Given the description of an element on the screen output the (x, y) to click on. 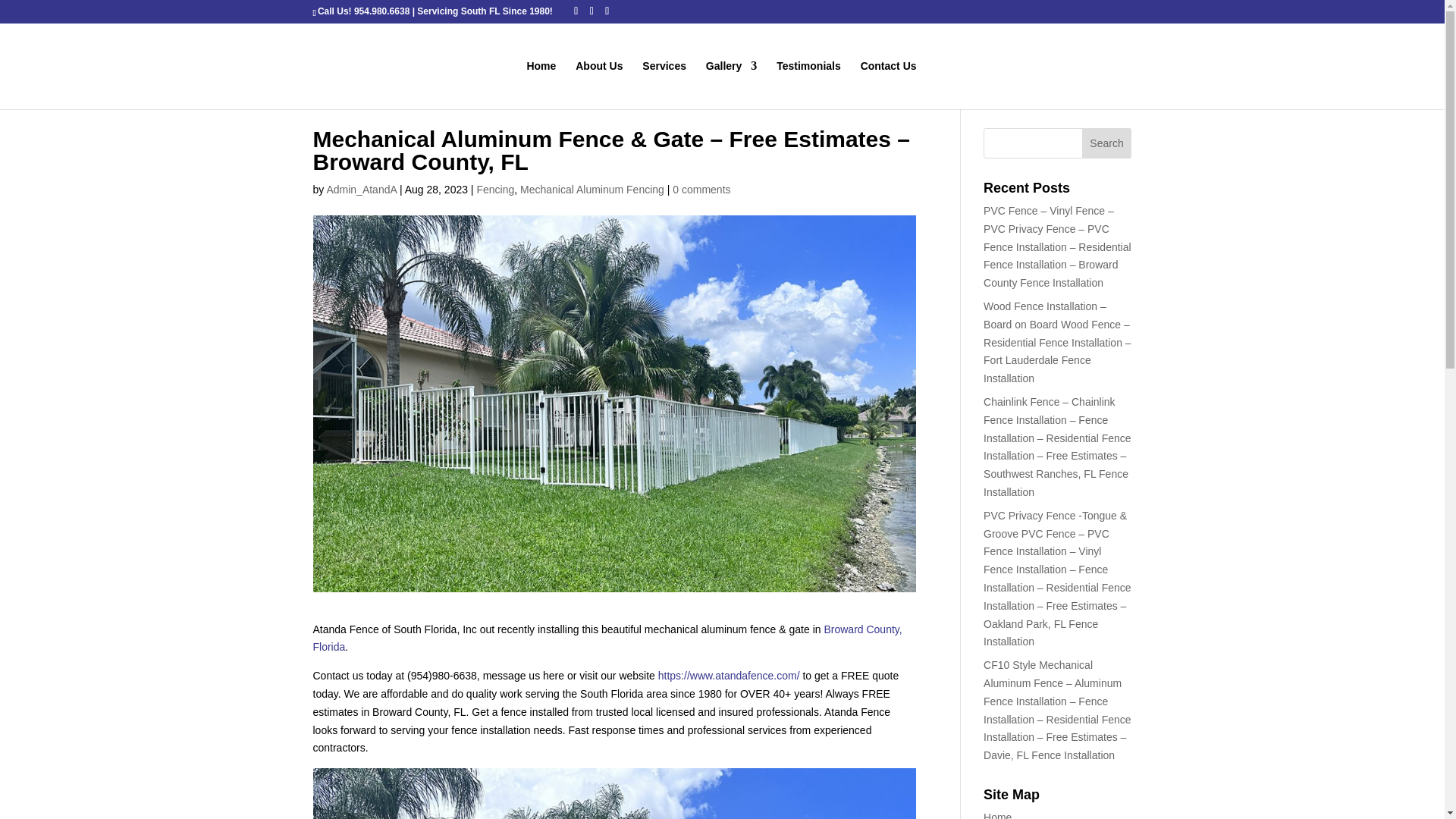
0 comments (701, 189)
Gallery (731, 84)
About Us (599, 84)
Fencing (494, 189)
Home (997, 815)
Mechanical Aluminum Fencing (591, 189)
Services (663, 84)
Search (1106, 142)
Broward County, Florida (607, 638)
Search (1106, 142)
